Given the description of an element on the screen output the (x, y) to click on. 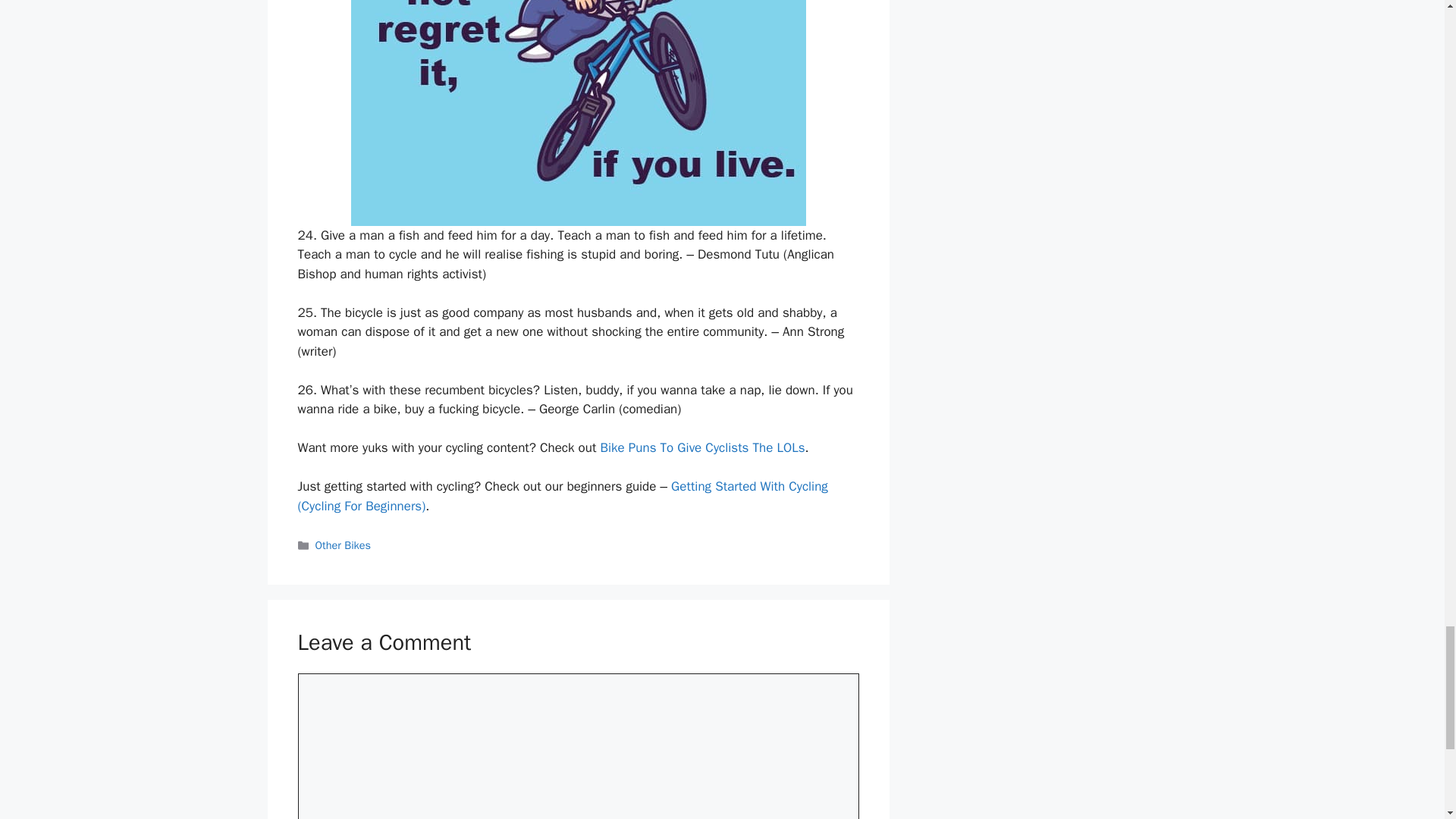
Inspirational Cycling Quotes 4 (577, 113)
Other Bikes (343, 545)
Bike Puns To Give Cyclists The LOLs (702, 447)
